Given the description of an element on the screen output the (x, y) to click on. 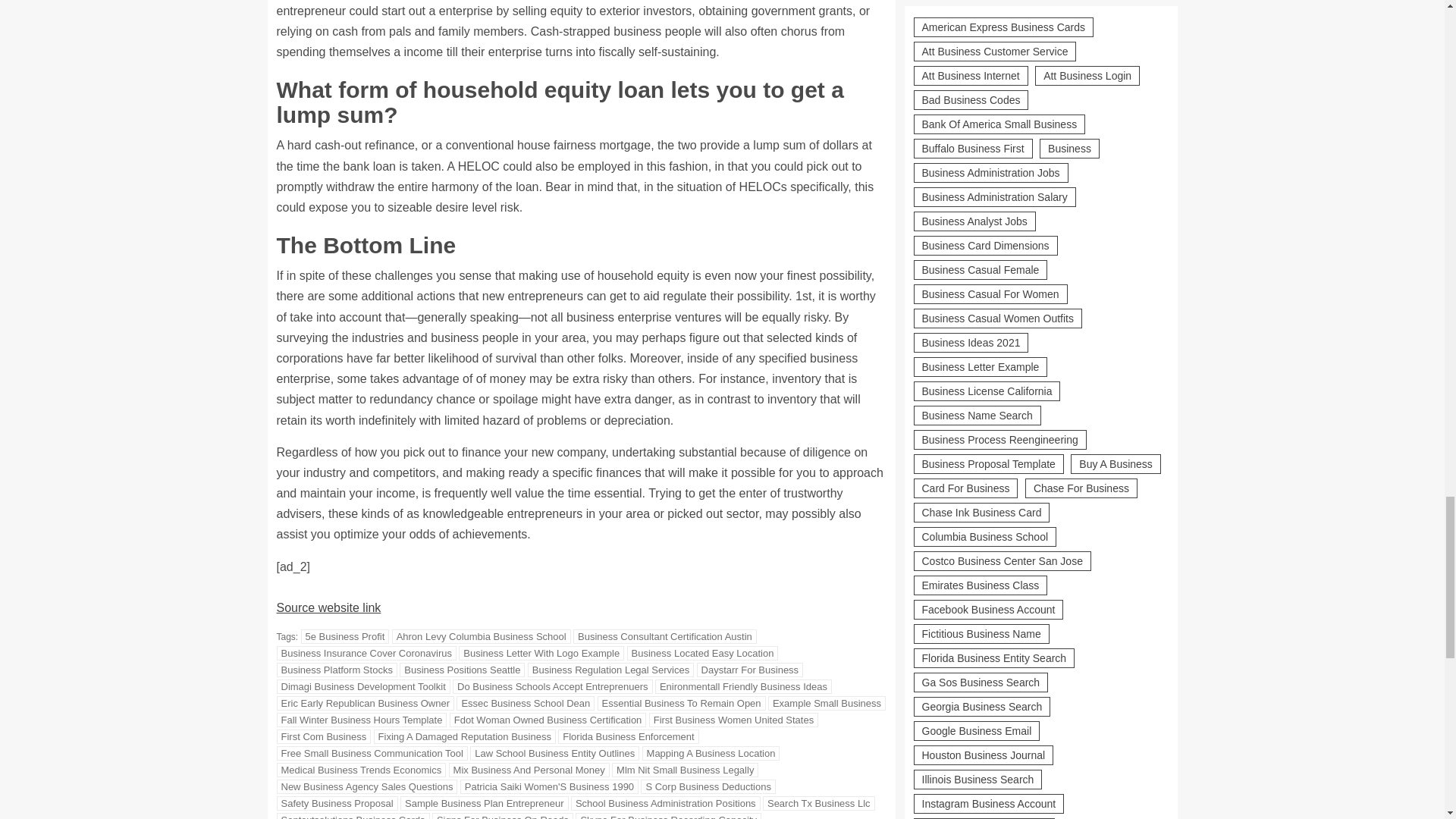
Ahron Levy Columbia Business School (480, 636)
Business Insurance Cover Coronavirus (365, 653)
Source website link (328, 607)
Business Letter With Logo Example (541, 653)
Business Located Easy Location (702, 653)
5e Business Profit (345, 636)
Business Consultant Certification Austin (665, 636)
